Given the description of an element on the screen output the (x, y) to click on. 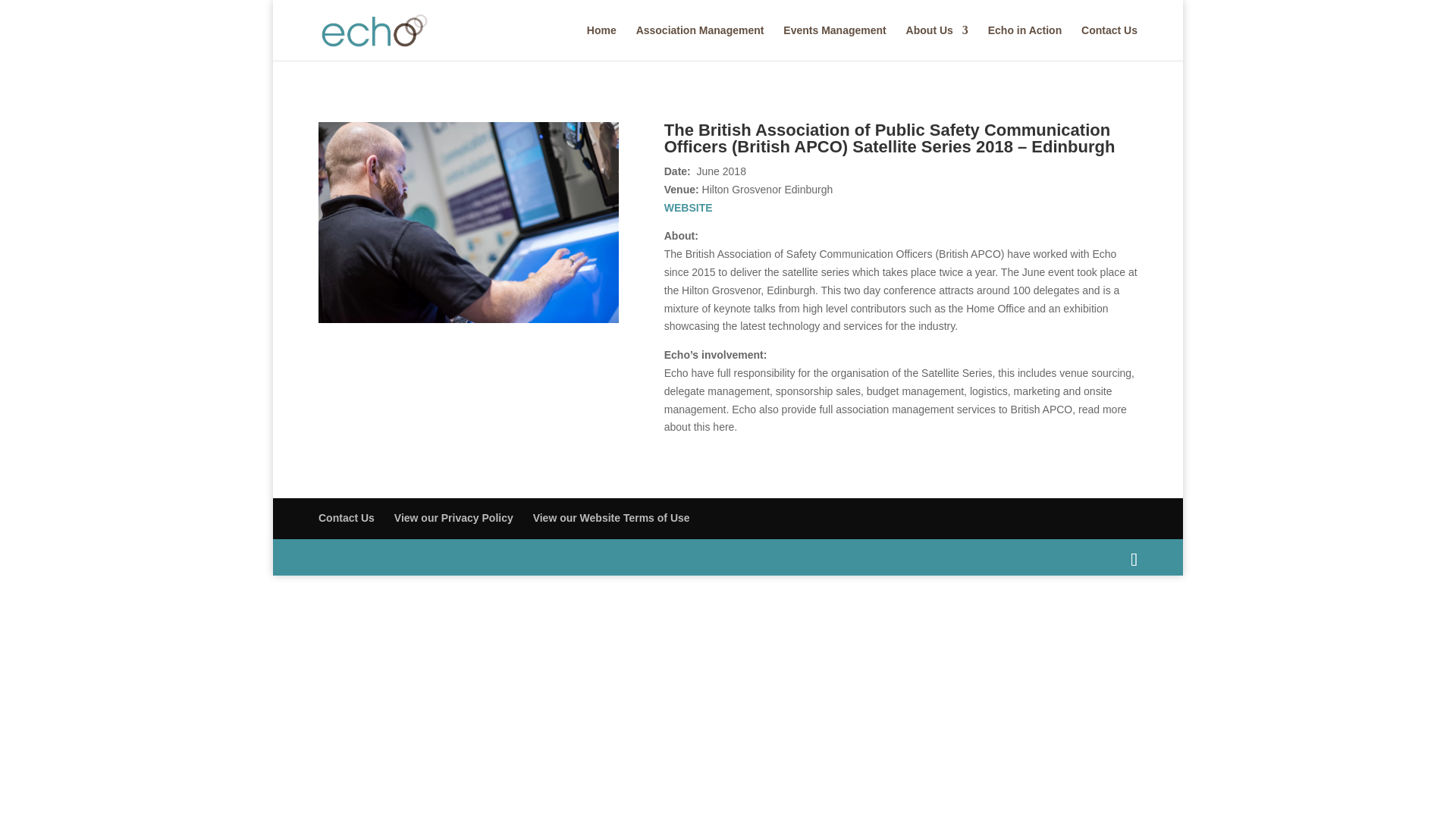
About Us (936, 42)
View our Privacy Policy (453, 517)
Contact Us (346, 517)
Events Management (834, 42)
WEBSITE (688, 207)
View our Website Terms of Use (611, 517)
Association Management (700, 42)
Echo in Action (1024, 42)
Contact Us (1109, 42)
